Given the description of an element on the screen output the (x, y) to click on. 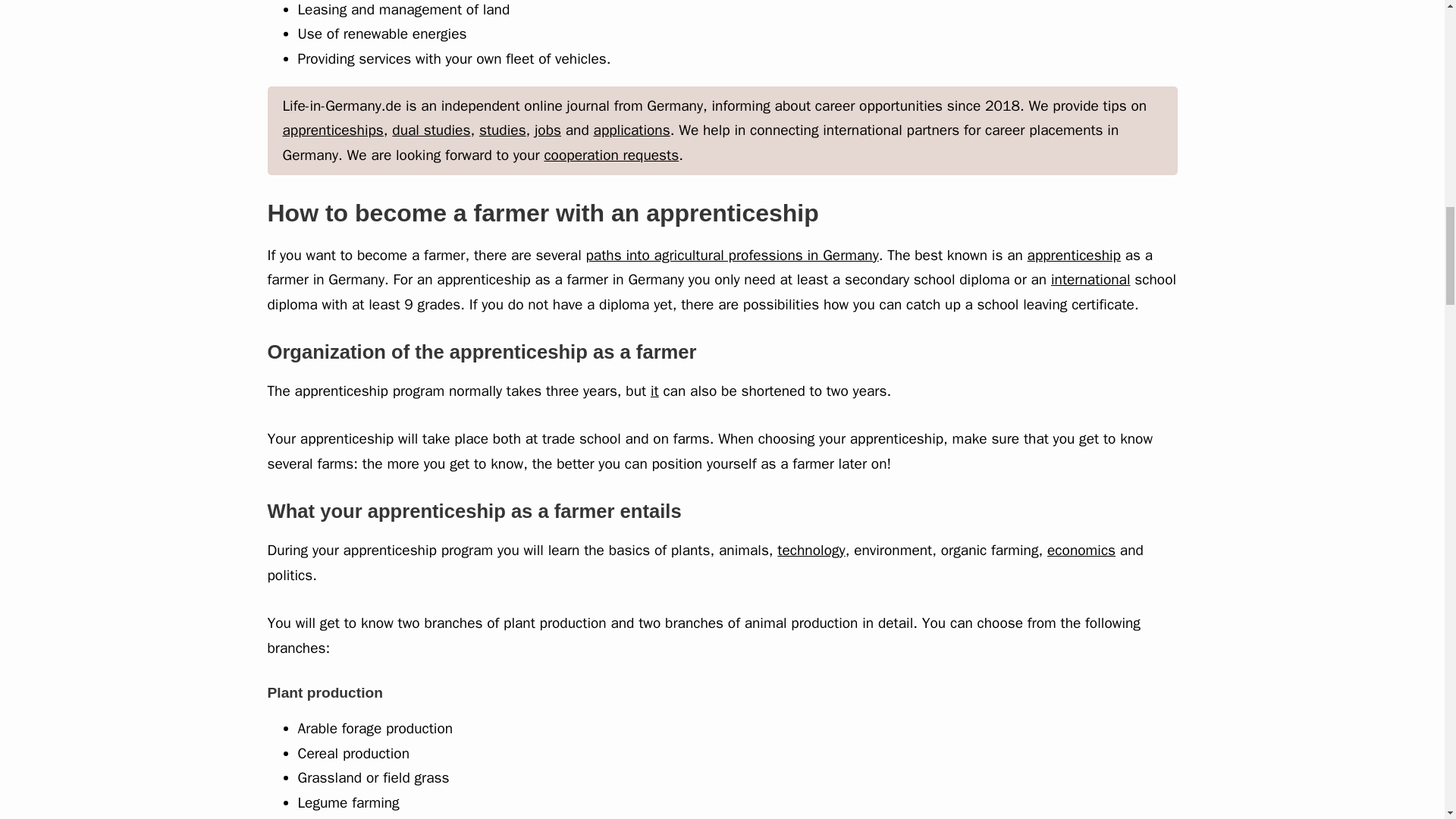
dual studies (430, 130)
studies (502, 130)
apprenticeships (332, 130)
